Given the description of an element on the screen output the (x, y) to click on. 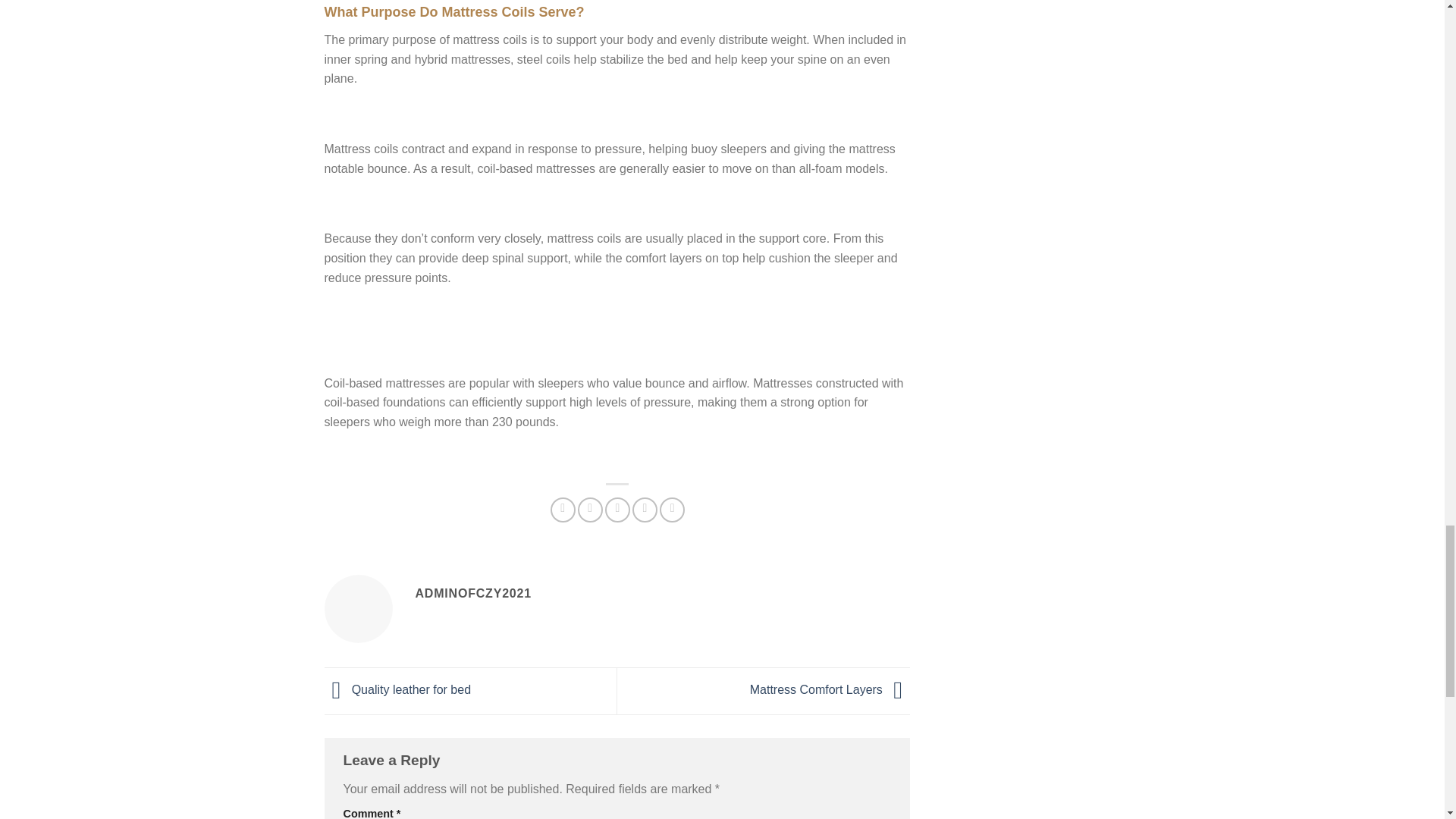
Share on Twitter (590, 509)
Mattress Comfort Layers (829, 689)
Share on Facebook (562, 509)
Share on LinkedIn (671, 509)
Quality leather for bed (397, 689)
Email to a Friend (617, 509)
Pin on Pinterest (644, 509)
